Given the description of an element on the screen output the (x, y) to click on. 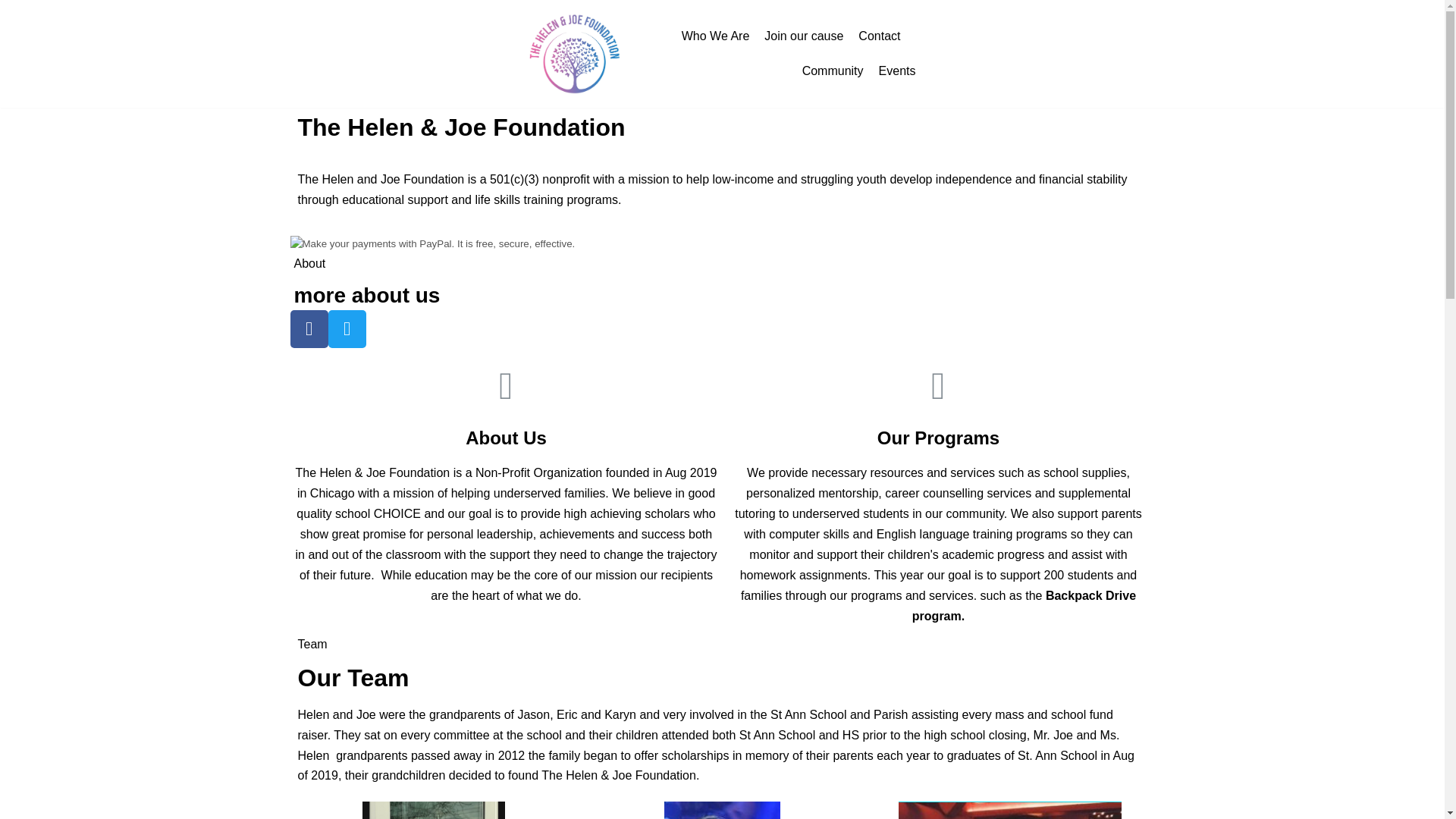
Who We Are (715, 35)
Skip to content (15, 7)
Contact (879, 35)
Join our cause (803, 35)
Events (897, 71)
Community (832, 71)
The Helen and Joe Community Org. (574, 53)
